Given the description of an element on the screen output the (x, y) to click on. 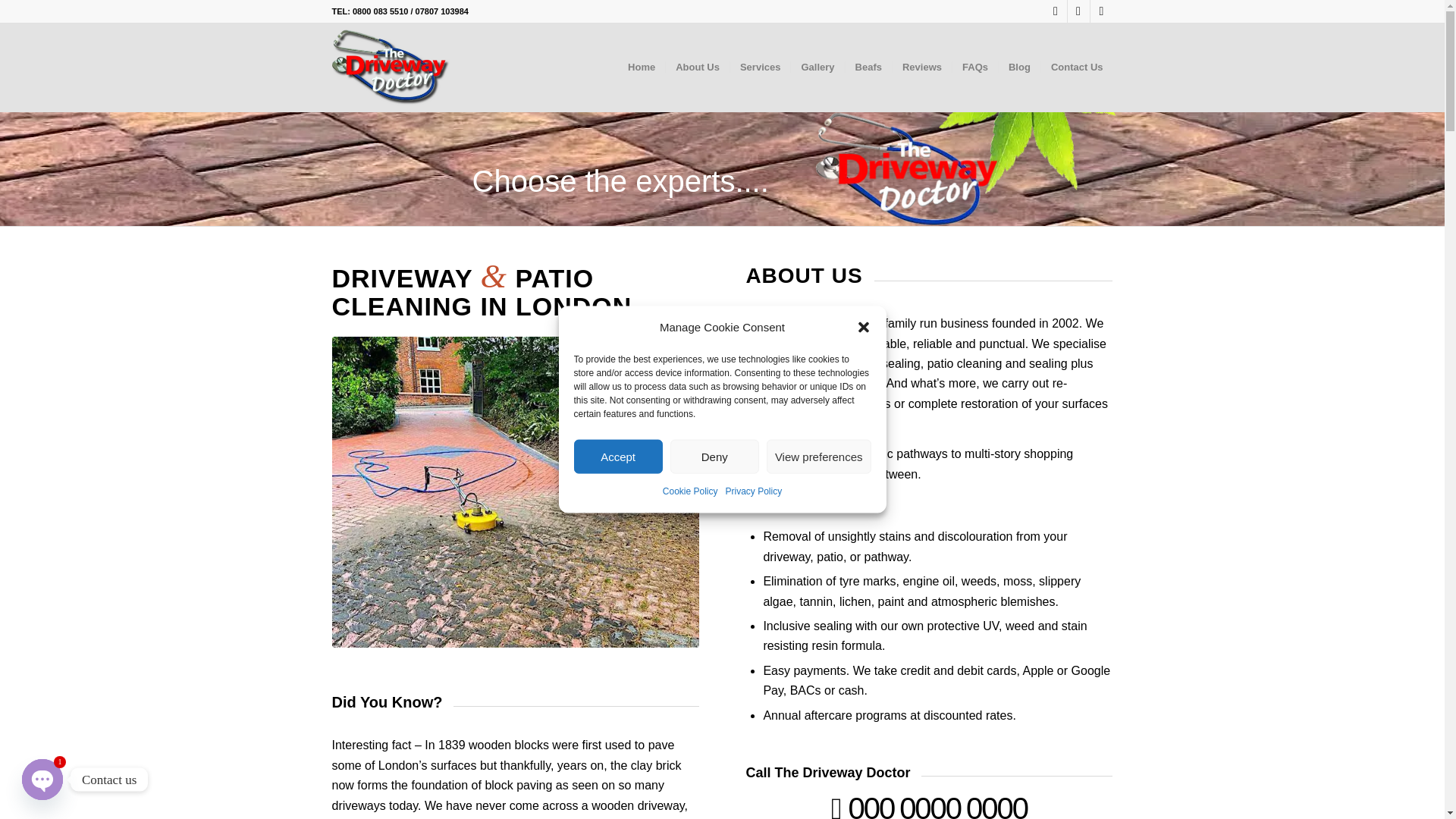
Accept (617, 456)
Deny (713, 456)
Privacy Policy (753, 491)
Mail (1101, 11)
Service-page-driveway (514, 492)
View preferences (818, 456)
Cookie Policy (689, 491)
Facebook (1078, 11)
Instagram (1056, 11)
